Given the description of an element on the screen output the (x, y) to click on. 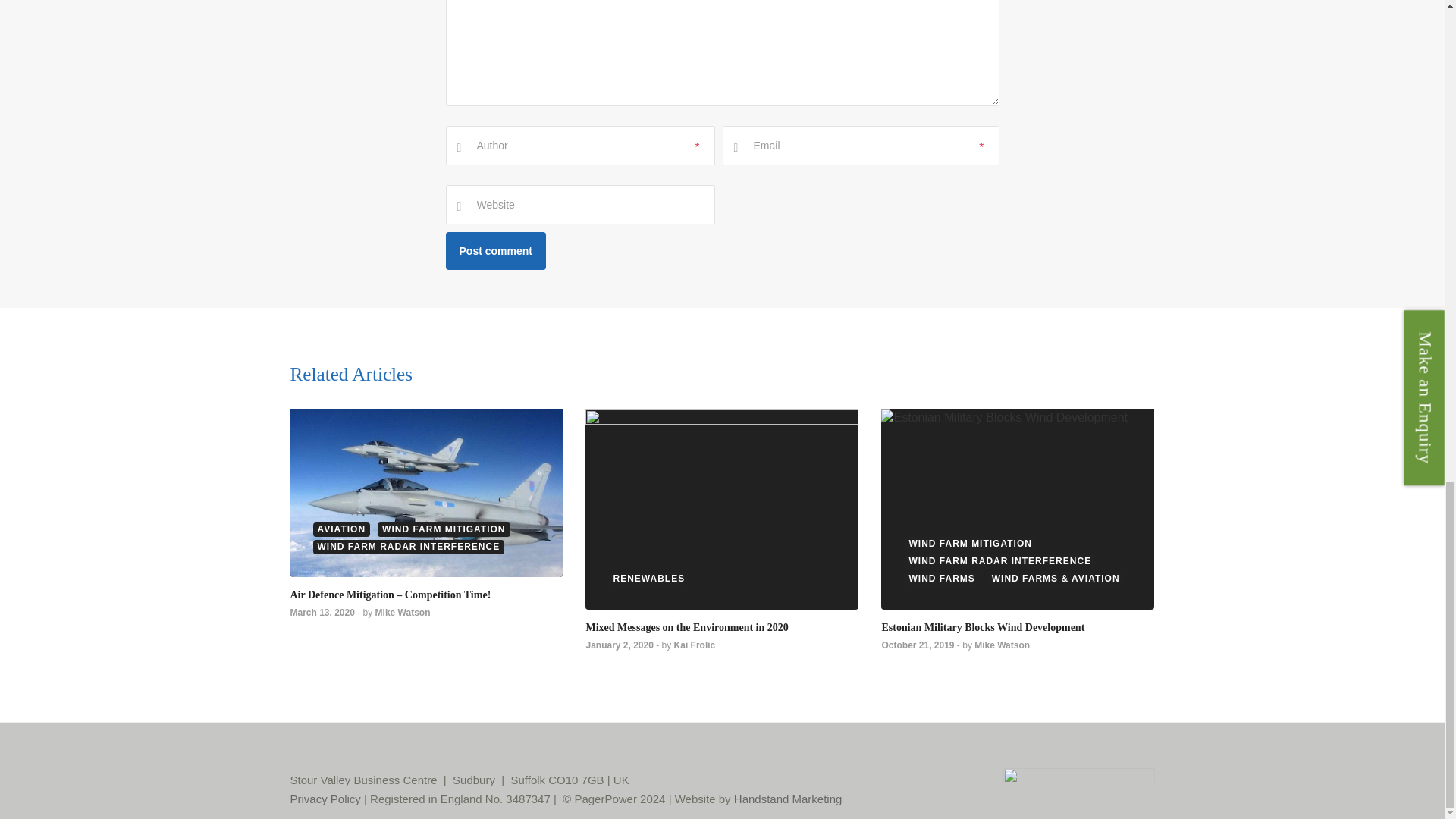
Post comment (495, 250)
